Given the description of an element on the screen output the (x, y) to click on. 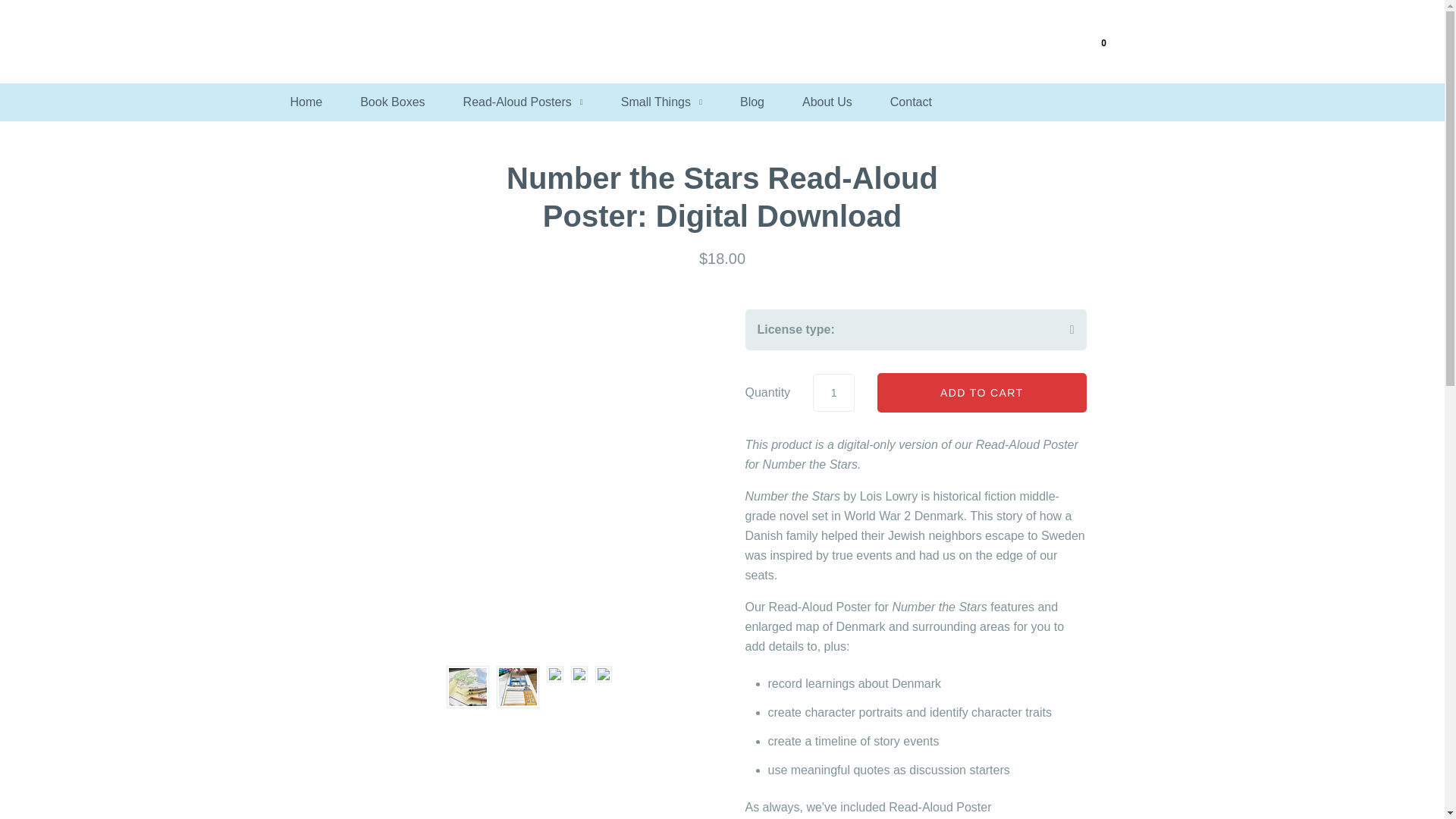
About Us (826, 101)
Small Things (661, 102)
Read-Aloud Posters (523, 102)
1 (833, 392)
Blog (751, 101)
Contact (910, 101)
Home (305, 101)
Add to cart (981, 392)
Add to cart (981, 392)
Book Boxes (392, 101)
